Given the description of an element on the screen output the (x, y) to click on. 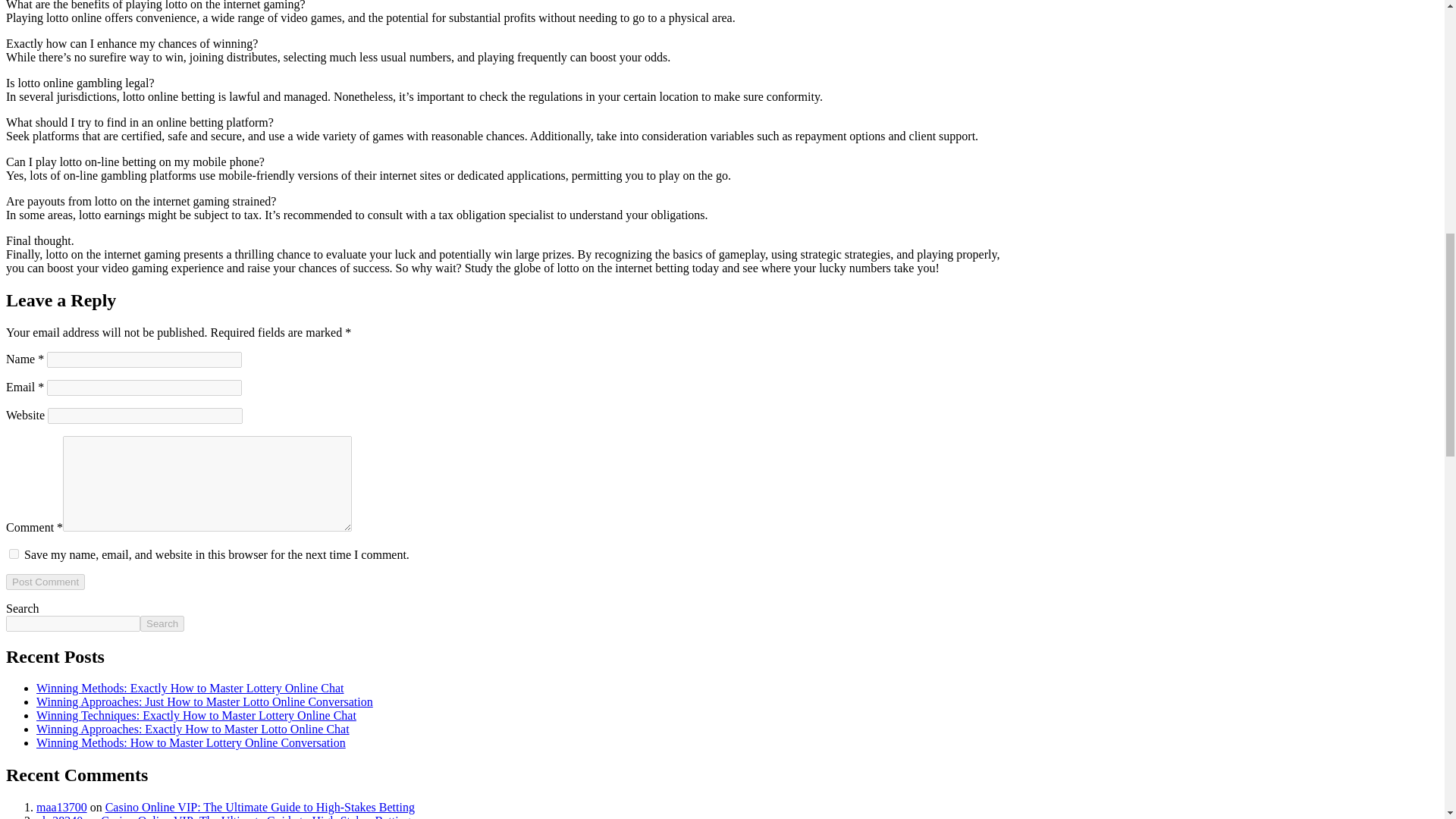
maa13700 (61, 807)
yes (13, 553)
Search (161, 623)
Casino Online VIP: The Ultimate Guide to High-Stakes Betting (259, 807)
Post Comment (44, 581)
pkr28240 (59, 816)
Post Comment (44, 581)
Winning Approaches: Exactly How to Master Lotto Online Chat (192, 728)
Casino Online VIP: The Ultimate Guide to High-Stakes Betting (255, 816)
Winning Methods: How to Master Lottery Online Conversation (191, 742)
Winning Methods: Exactly How to Master Lottery Online Chat (189, 687)
